Given the description of an element on the screen output the (x, y) to click on. 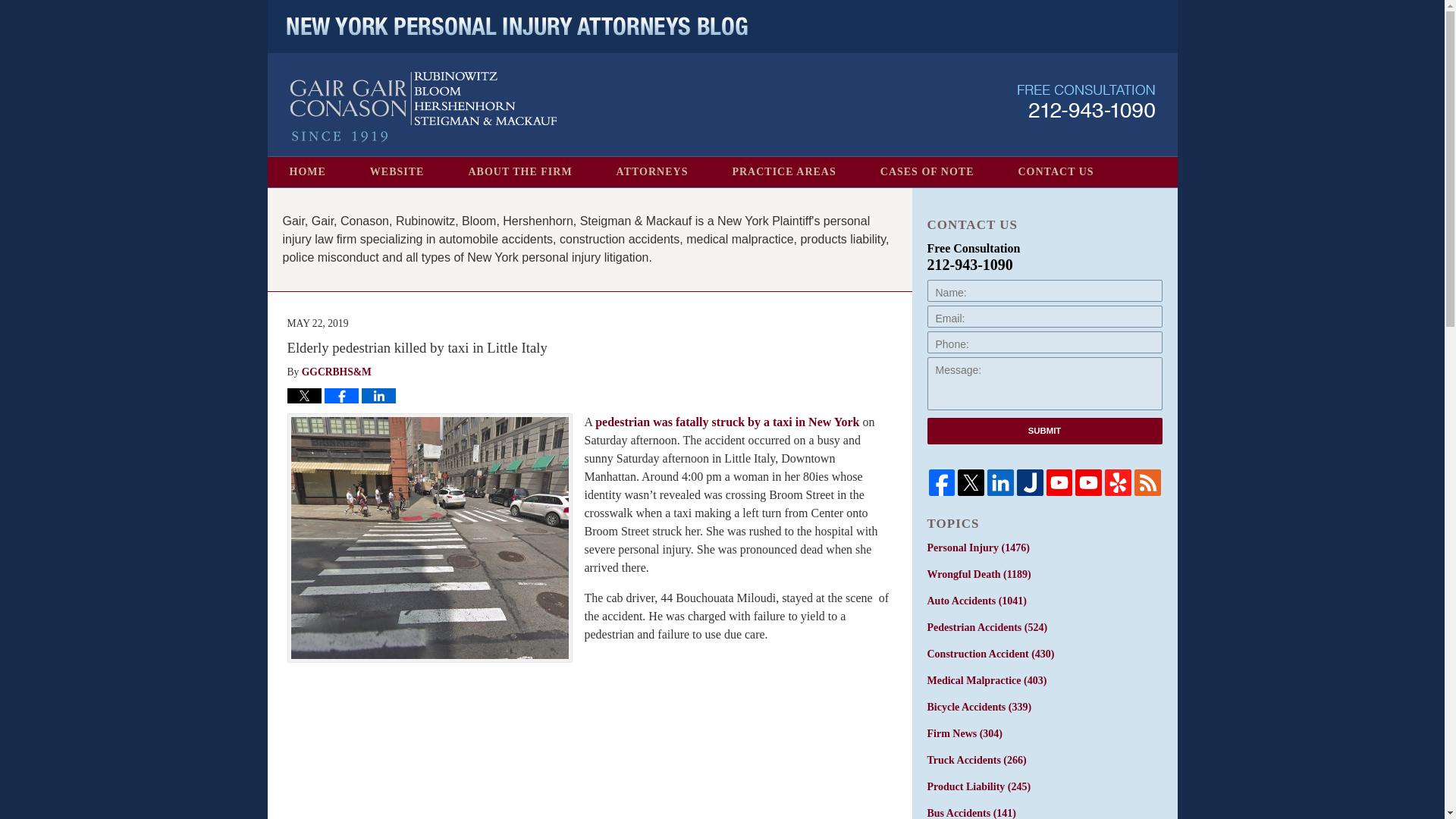
SUBMIT (1043, 430)
HOME (306, 172)
New York Personal Injury Attorneys Blog (422, 107)
ATTORNEYS (652, 172)
Twitter (971, 482)
ABOUT THE FIRM (519, 172)
Facebook (941, 482)
pedestrian was fatally struck by a taxi in New York (727, 421)
Justia (1029, 482)
LinkedIn (999, 482)
Facebook (941, 482)
CASES OF NOTE (927, 172)
LinkedIn (1000, 482)
CONTACT US (1055, 172)
PRACTICE AREAS (783, 172)
